Given the description of an element on the screen output the (x, y) to click on. 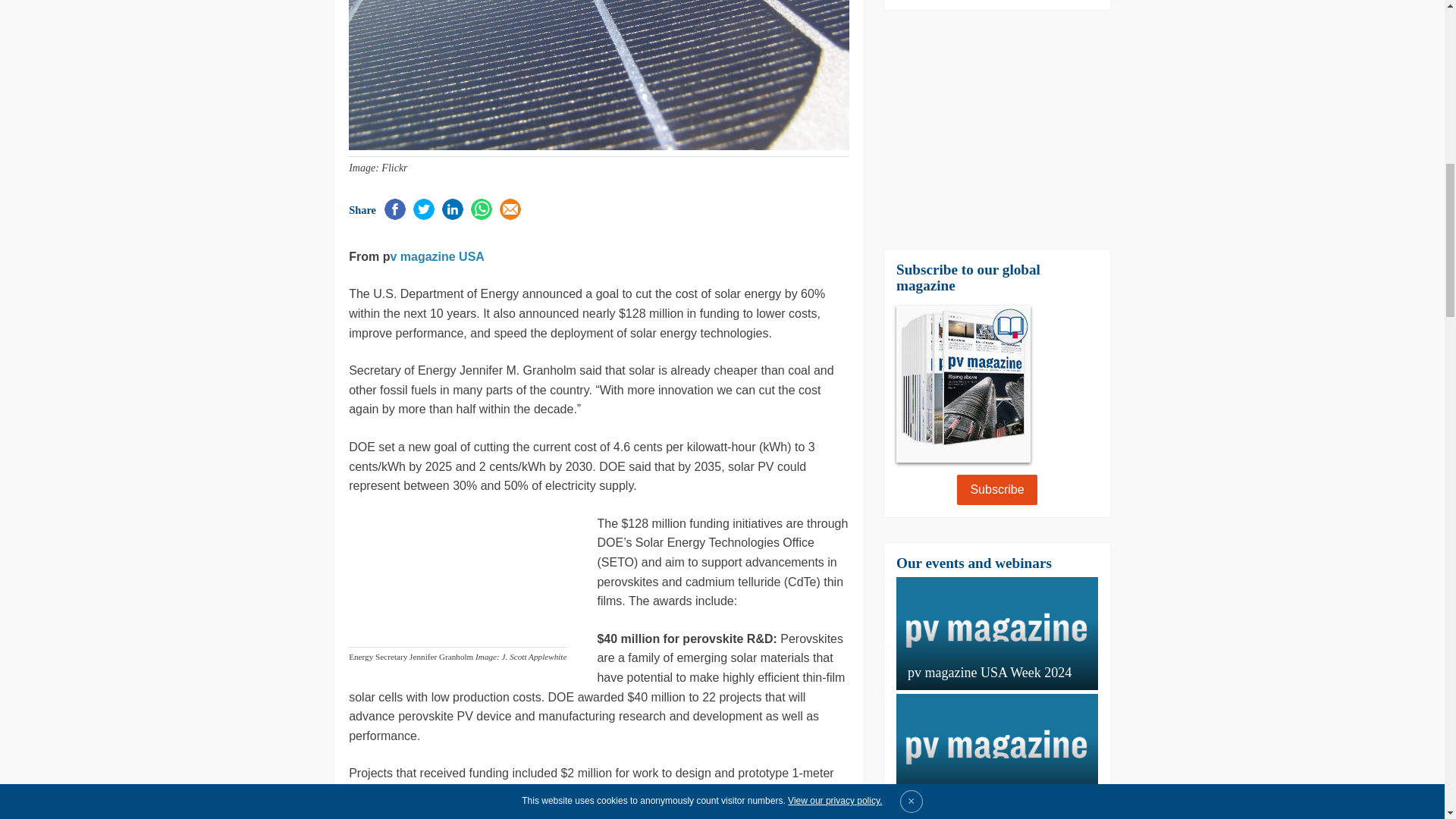
3rd party ad content (996, 129)
